Given the description of an element on the screen output the (x, y) to click on. 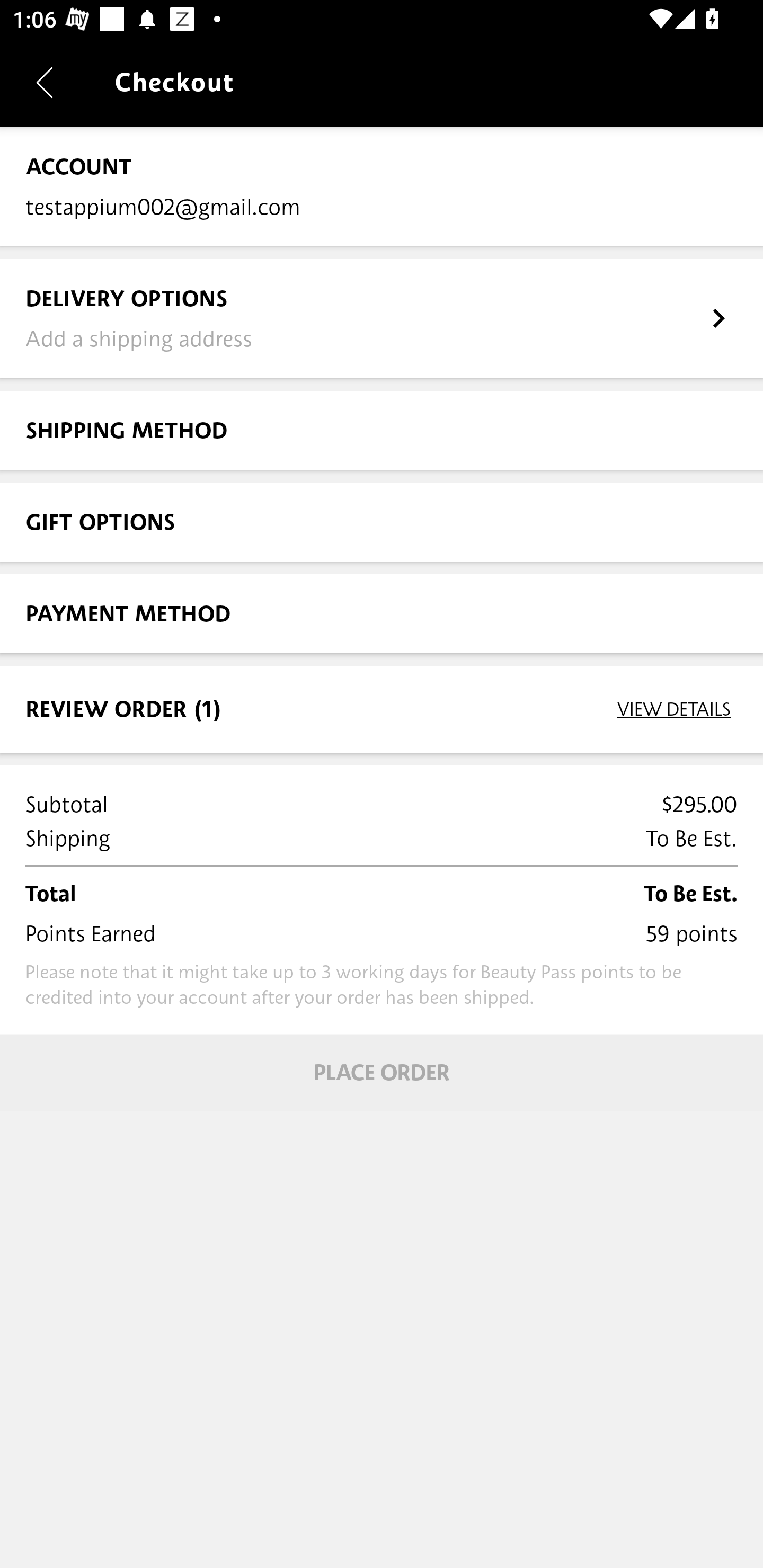
Navigate up (44, 82)
DELIVERY OPTIONS Add a shipping address (381, 317)
REVIEW ORDER (1) VIEW DETAILS (381, 709)
PLACE ORDER (381, 1072)
